Given the description of an element on the screen output the (x, y) to click on. 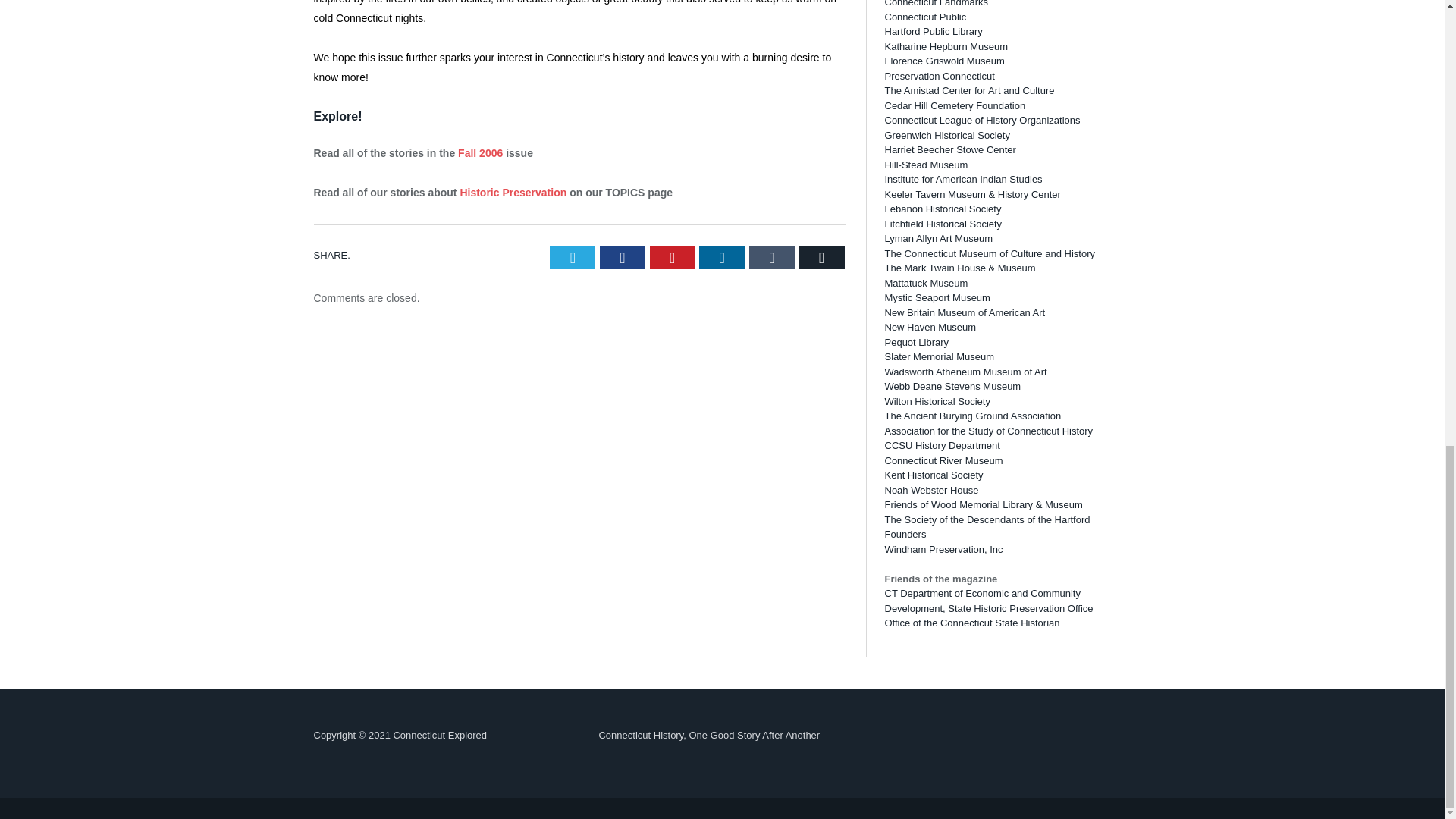
Tweet It (572, 257)
Share on Pinterest (672, 257)
Share on Tumblr (771, 257)
Share on Facebook (622, 257)
Share via Email (821, 257)
View on Facebook (925, 118)
Share on LinkedIn (721, 257)
Share (986, 118)
View on Facebook (925, 406)
